Given the description of an element on the screen output the (x, y) to click on. 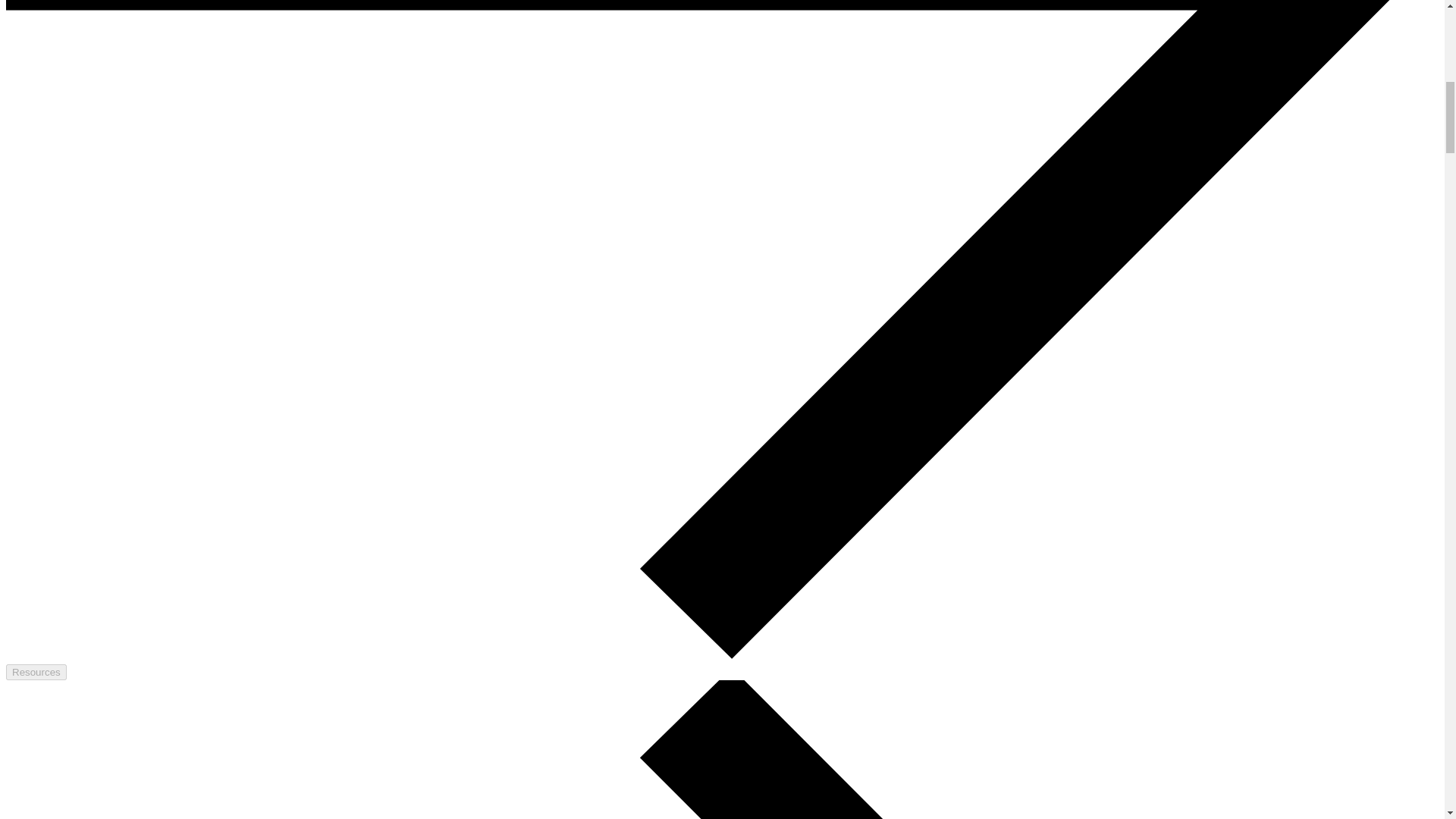
Resources (35, 672)
